Given the description of an element on the screen output the (x, y) to click on. 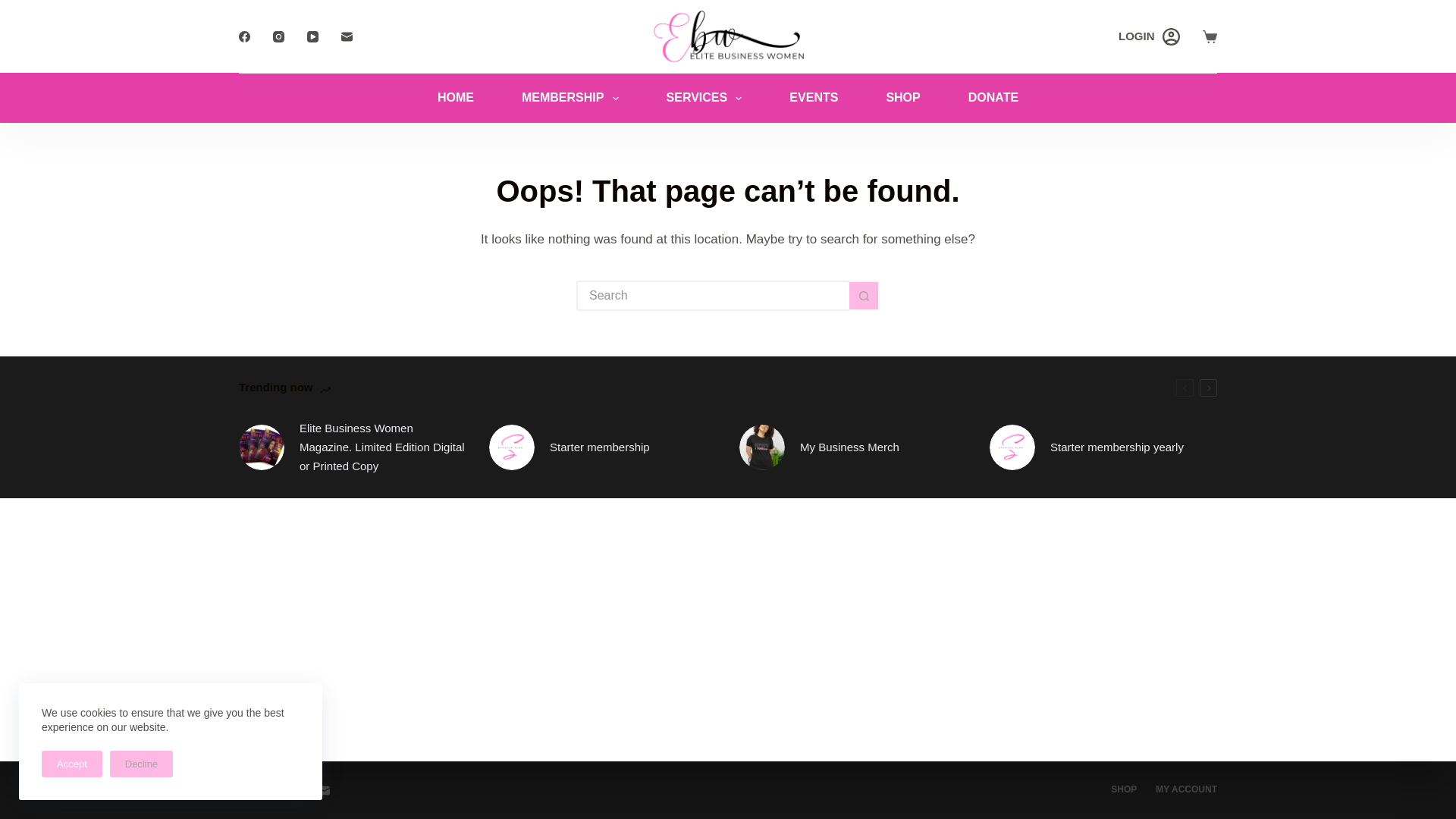
SHOP (902, 97)
1E60C2A7-8727-451D-BFC5-31E68BBF8523 (1012, 447)
Search for... (712, 295)
SERVICES (704, 97)
Skip to content (15, 7)
ADE6E281-271A-411B-9CFC-9076BC129224 (260, 447)
LOGIN (1148, 36)
DONATE (992, 97)
AD714323-4572-46EE-A1A5-1E7182B47BF8 (761, 447)
1E60C2A7-8727-451D-BFC5-31E68BBF8523 (511, 447)
HOME (455, 97)
Accept (71, 764)
MEMBERSHIP (570, 97)
Decline (141, 764)
EVENTS (813, 97)
